Given the description of an element on the screen output the (x, y) to click on. 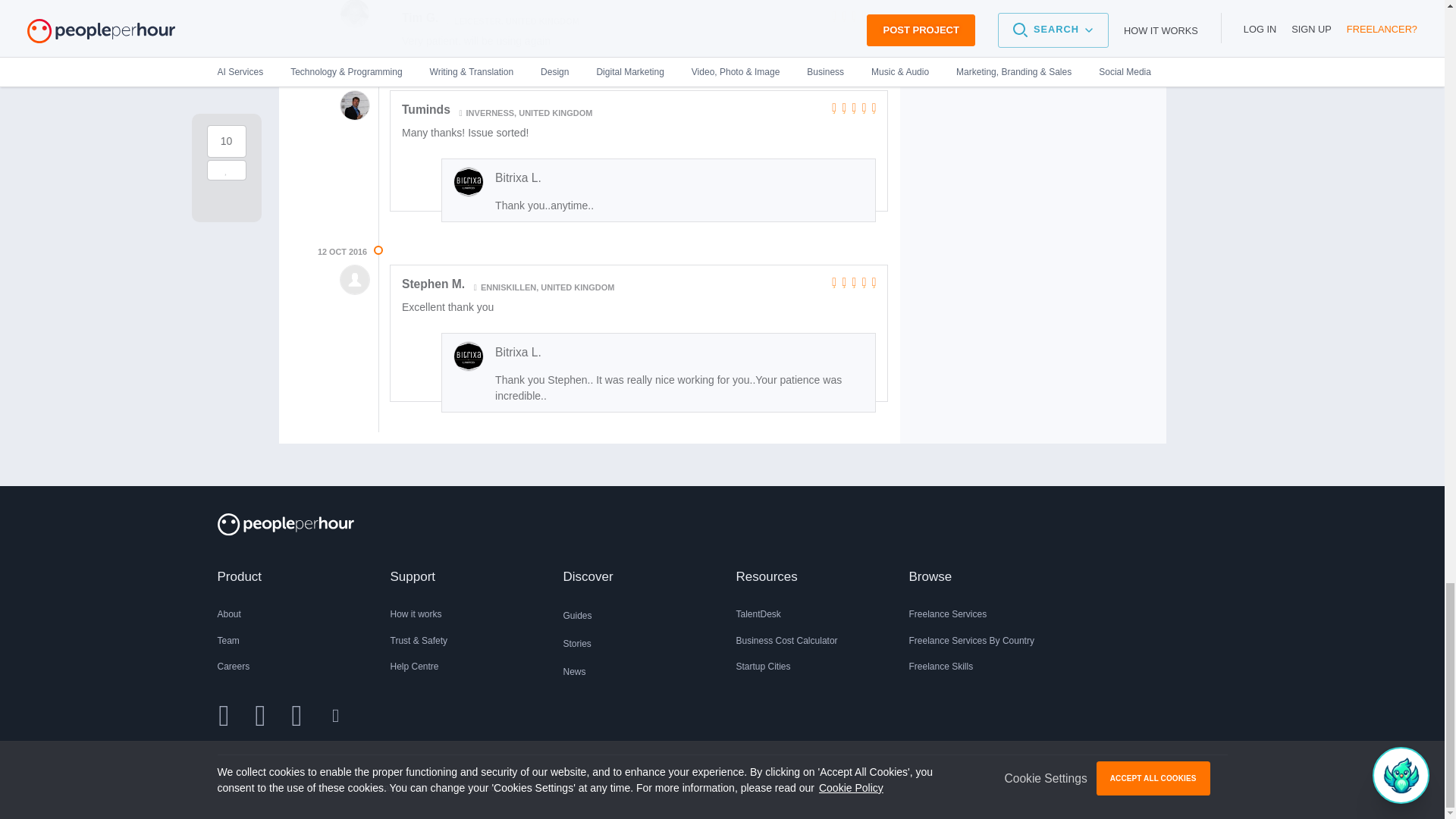
Thu, 20 Oct 2016  at 1:14am (341, 77)
Wed, 12 Oct 2016  at 12:26am (341, 251)
